Given the description of an element on the screen output the (x, y) to click on. 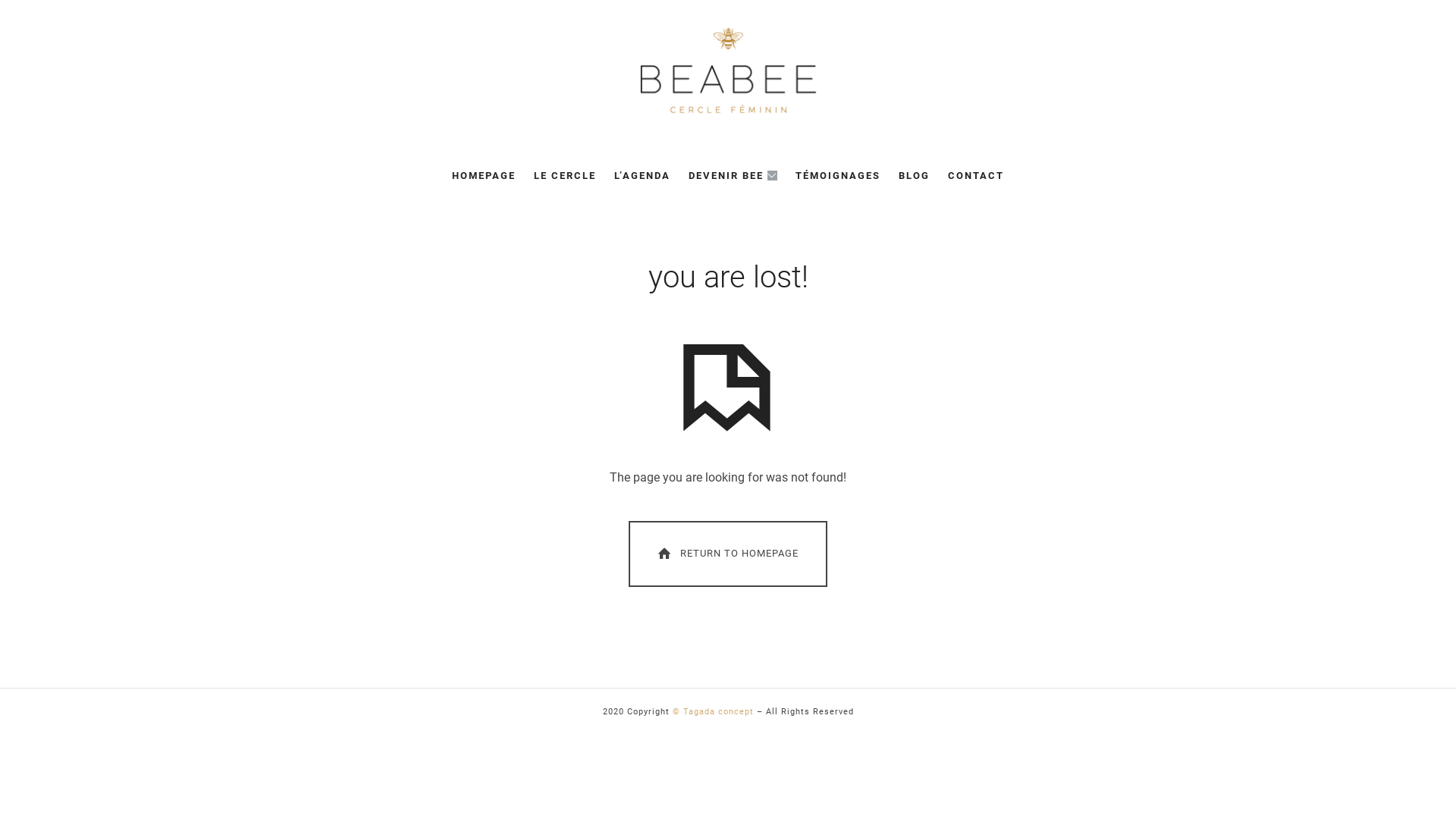
CONTACT Element type: text (975, 175)
Beabee Element type: text (727, 70)
LE CERCLE Element type: text (564, 175)
DEVENIR BEE Element type: text (732, 175)
RETURN TO HOMEPAGE Element type: text (727, 553)
HOMEPAGE Element type: text (483, 175)
BLOG Element type: text (913, 175)
